Given the description of an element on the screen output the (x, y) to click on. 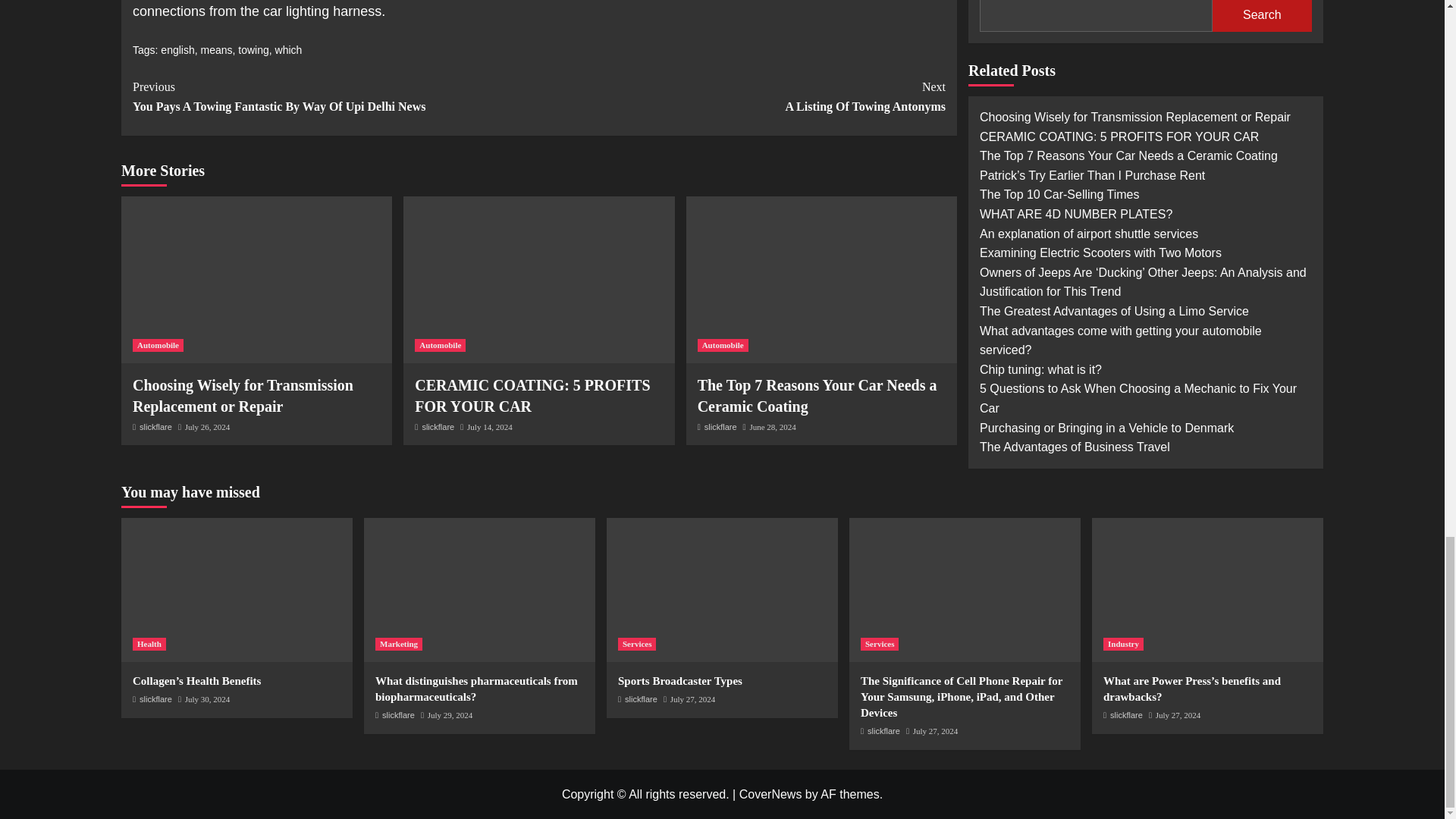
Choosing Wisely for Transmission Replacement or Repair (242, 395)
CERAMIC COATING: 5 PROFITS FOR YOUR CAR (531, 395)
english (176, 50)
Automobile (157, 345)
Automobile (722, 345)
slickflare (155, 426)
slickflare (720, 426)
means (216, 50)
June 28, 2024 (771, 426)
July 26, 2024 (207, 426)
Automobile (439, 345)
towing (252, 50)
The Top 7 Reasons Your Car Needs a Ceramic Coating (817, 395)
